Given the description of an element on the screen output the (x, y) to click on. 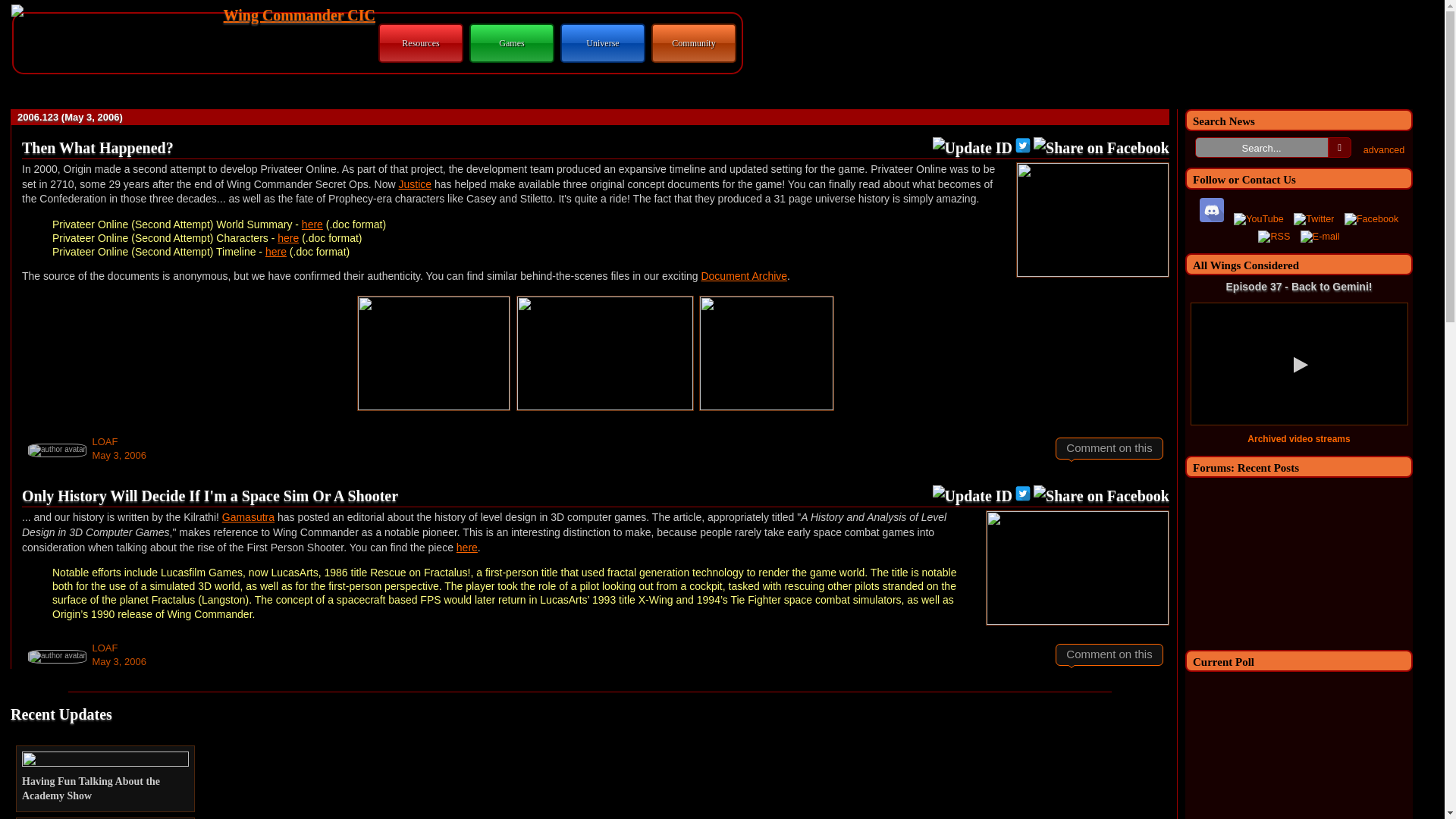
Advanced search (1383, 149)
Follow us on Twitter (1313, 219)
Share on Facebook (1101, 495)
Resources (420, 42)
Share on Twitter (1022, 493)
Share on Facebook (1101, 147)
Follow us on Facebook (1370, 219)
RSS news feed (1273, 237)
Discord chat with staff and fans (1211, 209)
Follow us on YouTube (1258, 219)
Games (511, 42)
Share on Twitter (1022, 145)
